Given the description of an element on the screen output the (x, y) to click on. 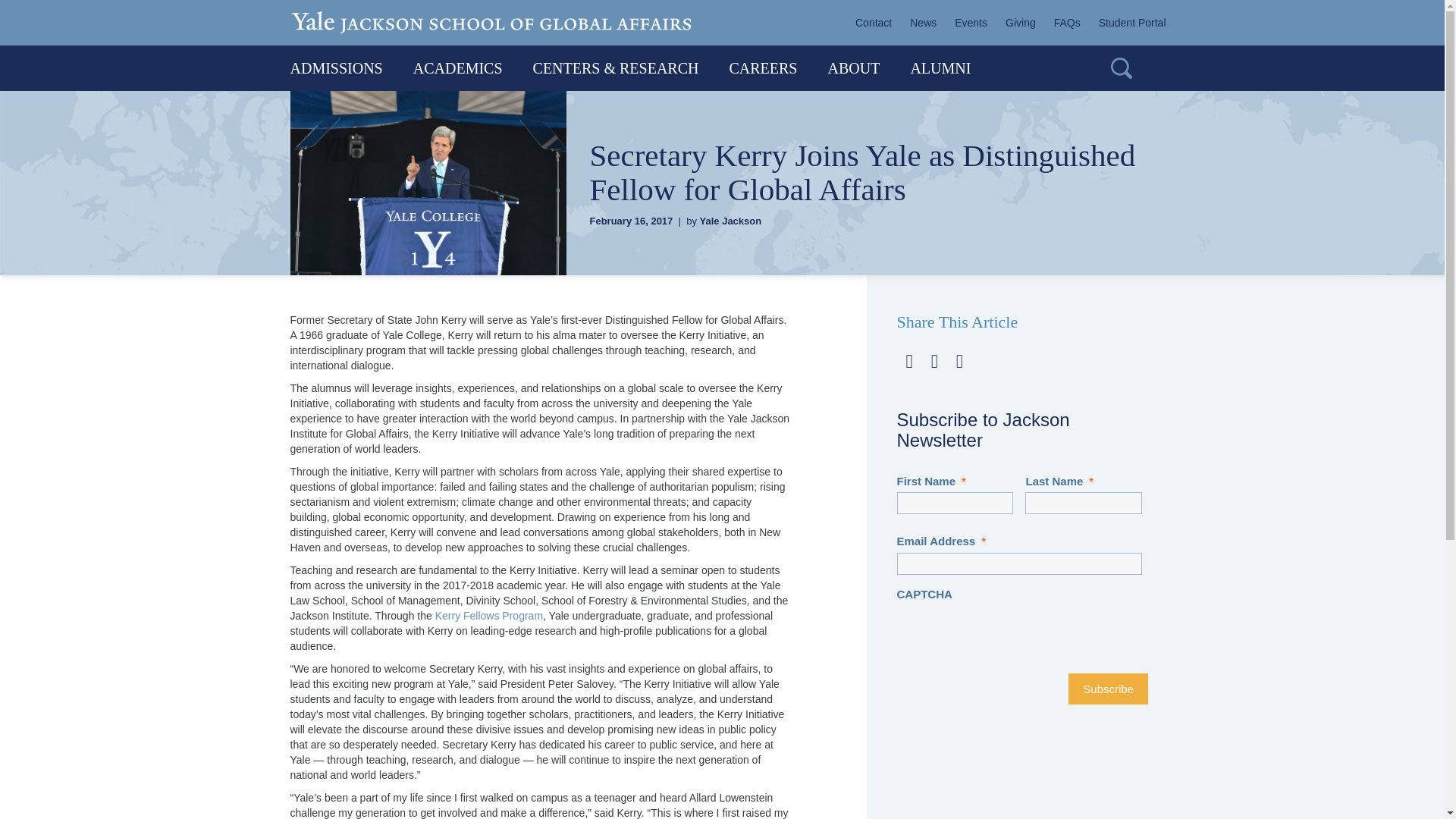
Login (1127, 22)
